Given the description of an element on the screen output the (x, y) to click on. 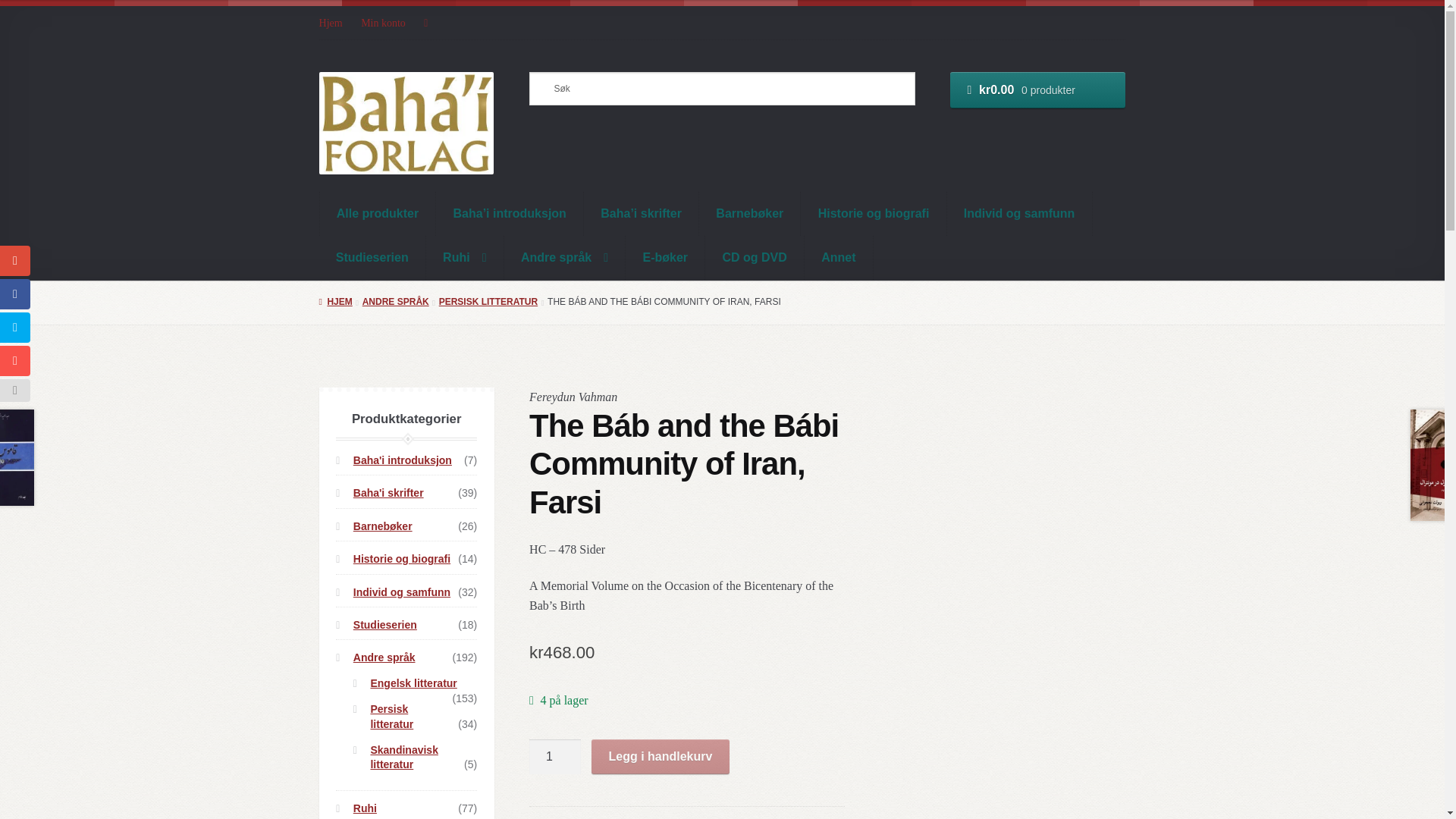
Historie og biografi (873, 213)
Ruhi (464, 257)
Alle produkter (377, 213)
Annet (839, 257)
kr0.00 0 produkter (1037, 90)
Hjem (335, 23)
Min konto (383, 23)
Individ og samfunn (1020, 213)
Studieserien (372, 257)
